Given the description of an element on the screen output the (x, y) to click on. 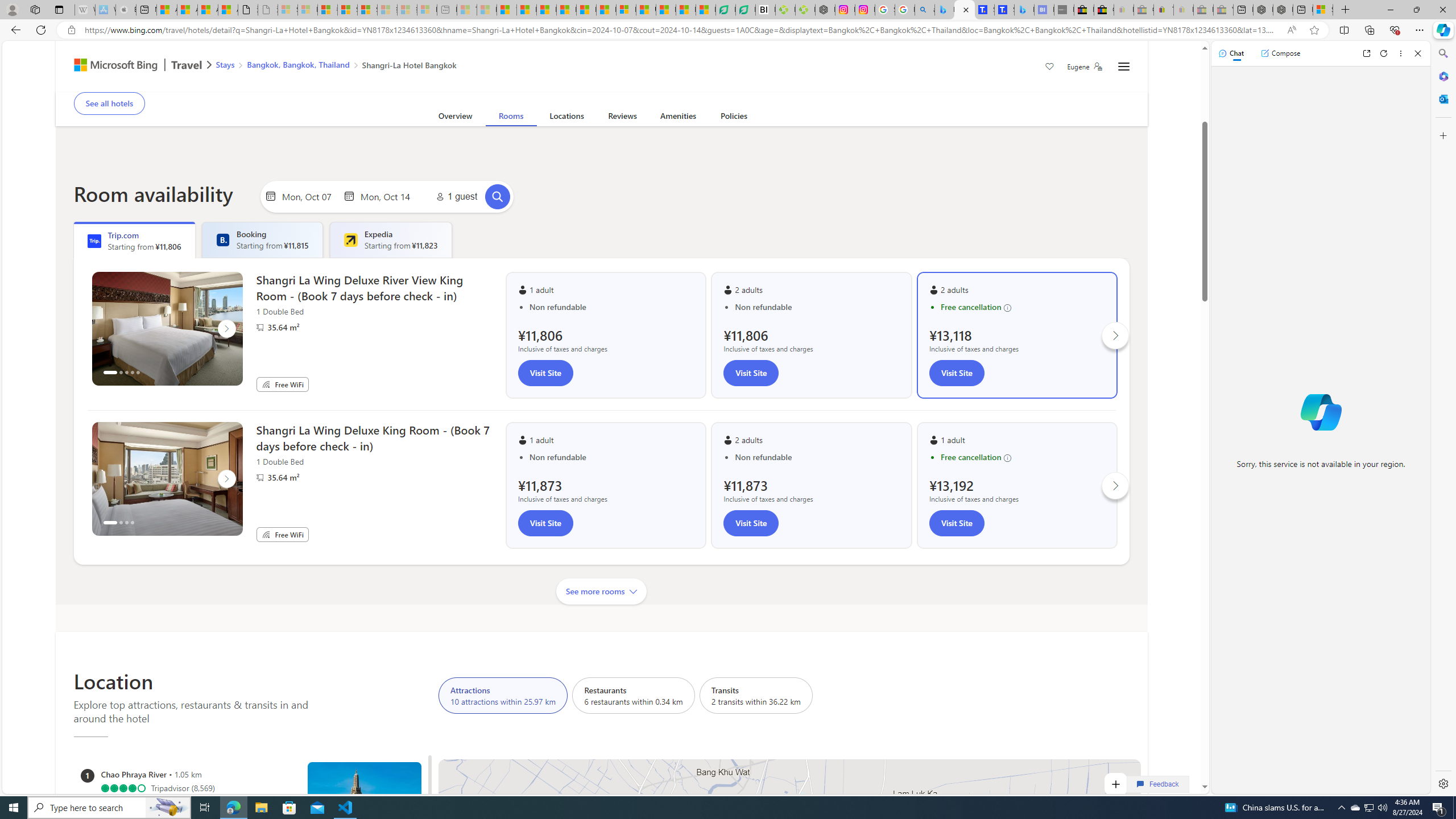
Microsoft Bing Travel - Shangri-La Hotel Bangkok (1024, 9)
Save (1049, 67)
Trip.com (1082, 61)
Booking (222, 239)
1 guest (454, 196)
Class: trvl-hub-header stickyheader (601, 65)
Attractions 10 attractions within 25.97 km (502, 695)
